Given the description of an element on the screen output the (x, y) to click on. 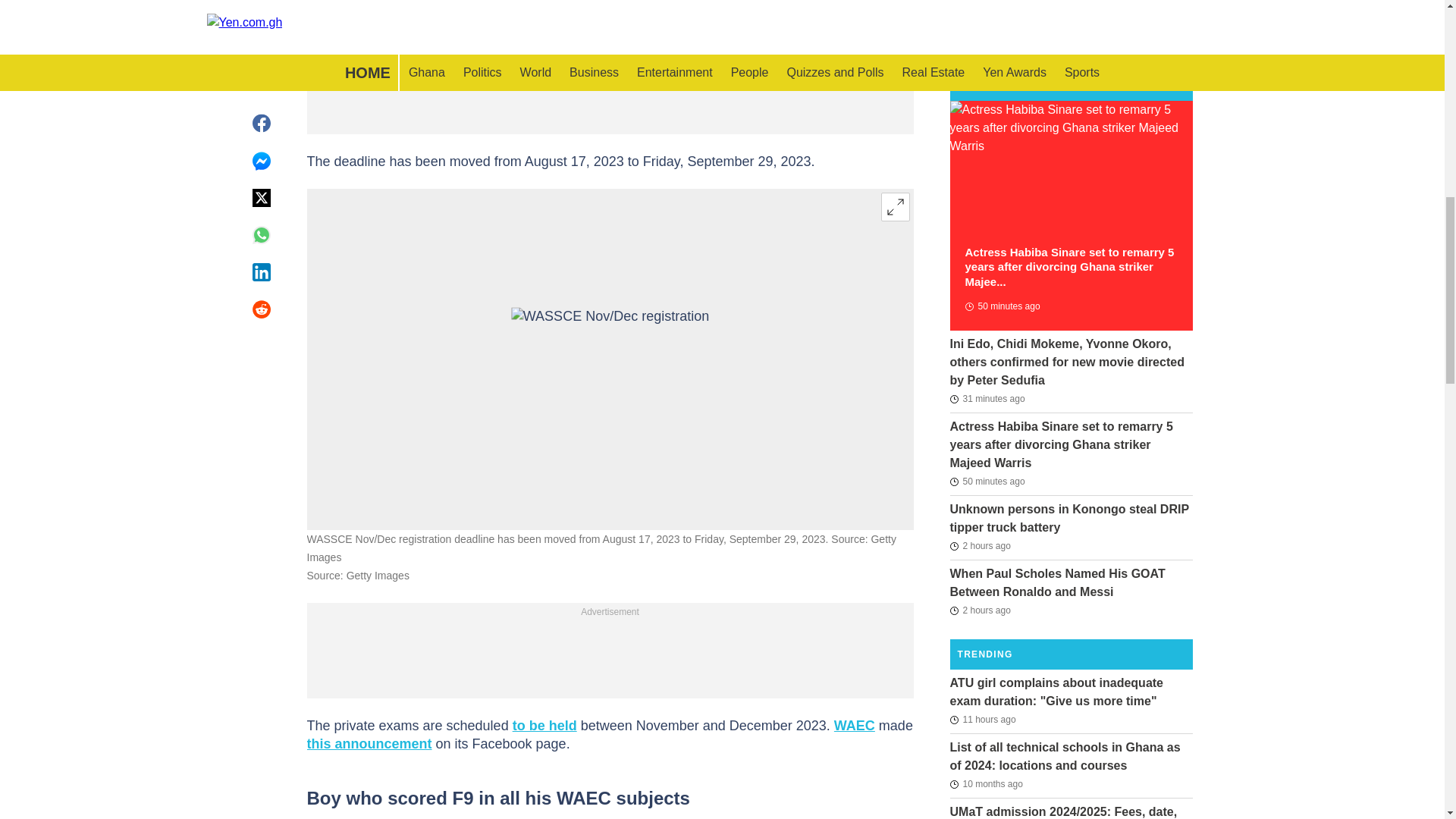
2024-08-30T19:24:58Z (979, 610)
Expand image (895, 206)
2024-08-30T20:55:01Z (987, 481)
2023-10-27T00:09:44Z (985, 783)
2024-08-30T21:14:17Z (987, 398)
2024-08-30T19:30:07Z (979, 546)
2024-08-30T10:36:38Z (981, 719)
2024-08-30T20:55:01Z (1001, 306)
